Given the description of an element on the screen output the (x, y) to click on. 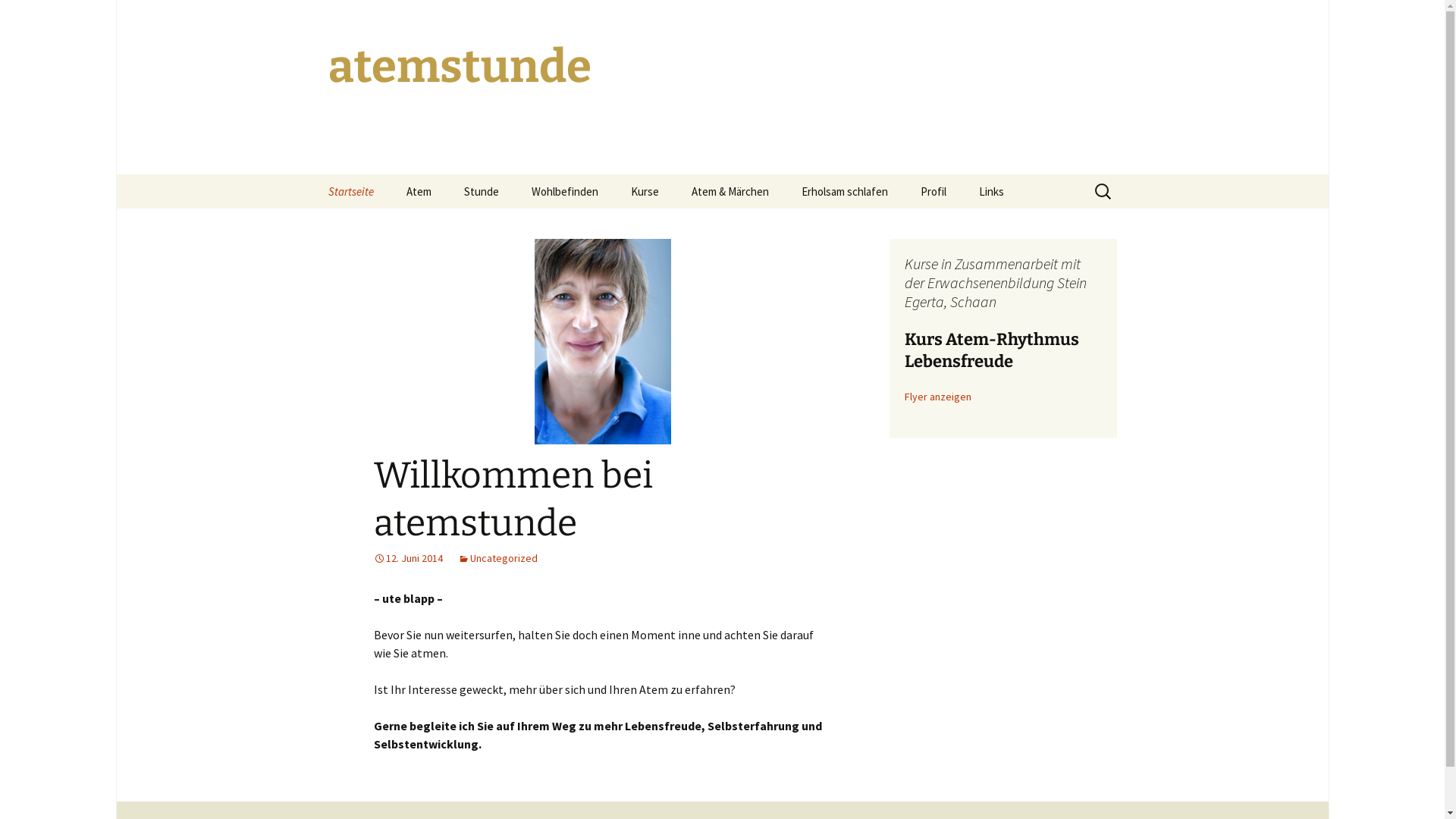
Willkommen bei atemstunde Element type: text (512, 498)
Zum Inhalt springen Element type: text (312, 174)
atemstunde Element type: text (721, 87)
Kurse Atem & Bewegung Element type: text (691, 225)
Links Element type: text (990, 191)
Suche Element type: text (18, 16)
Erholsam schlafen Element type: text (843, 191)
Atem Element type: text (418, 191)
Startseite Element type: text (350, 191)
Uncategorized Element type: text (497, 557)
Stunde Element type: text (481, 191)
Wohlbefinden Element type: text (563, 191)
Kurse Element type: text (644, 191)
Flyer anzeigen Element type: text (936, 396)
12. Juni 2014 Element type: text (407, 557)
Profil Element type: text (933, 191)
